Given the description of an element on the screen output the (x, y) to click on. 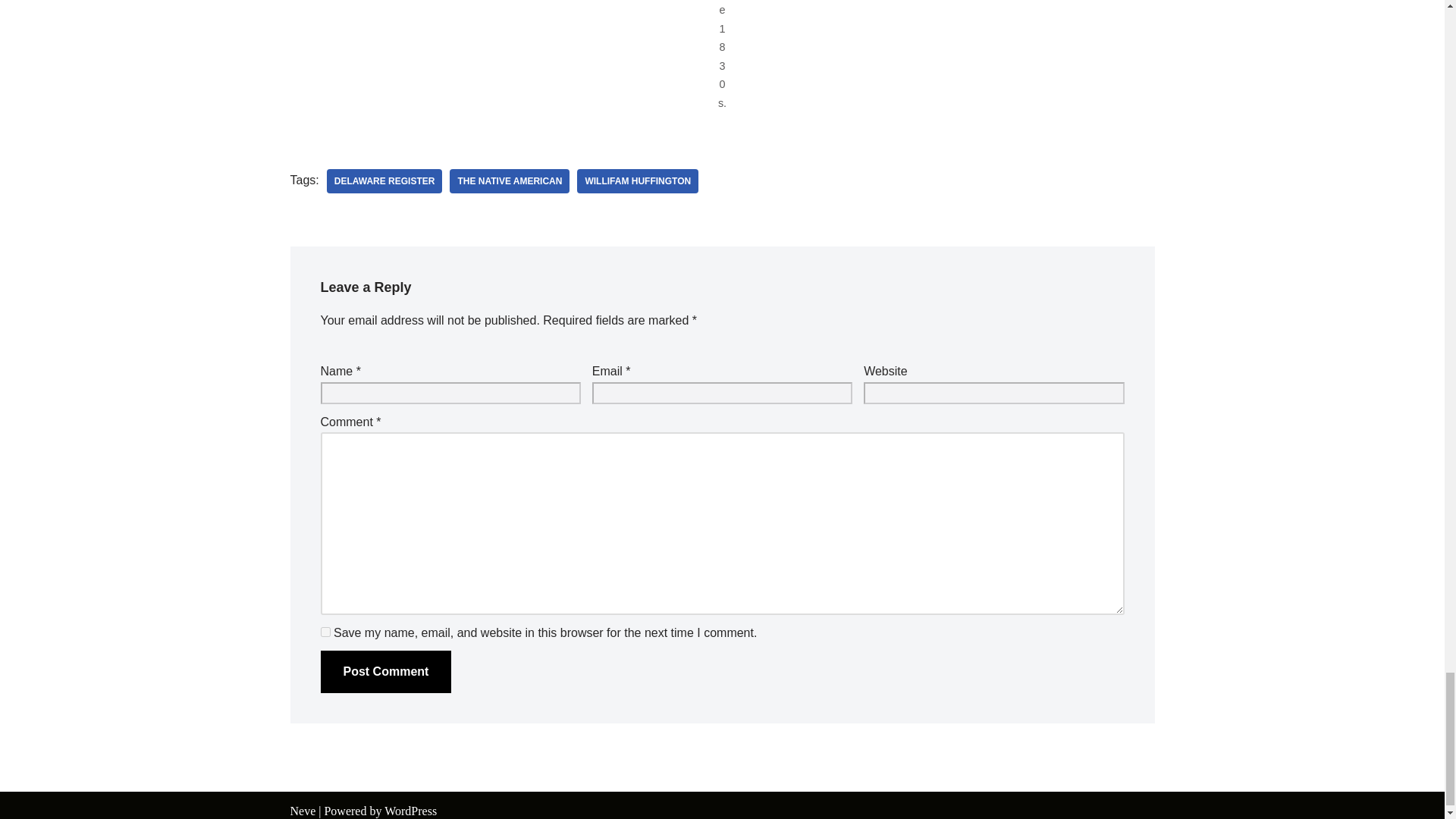
THE NATIVE AMERICAN (509, 180)
Post Comment (385, 671)
DELAWARE REGISTER (384, 180)
Post Comment (385, 671)
WILLIFAM HUFFINGTON (637, 180)
Neve (302, 810)
yes (325, 632)
WordPress (410, 810)
delaware register (384, 180)
the native american (509, 180)
willifam huffington (637, 180)
